Given the description of an element on the screen output the (x, y) to click on. 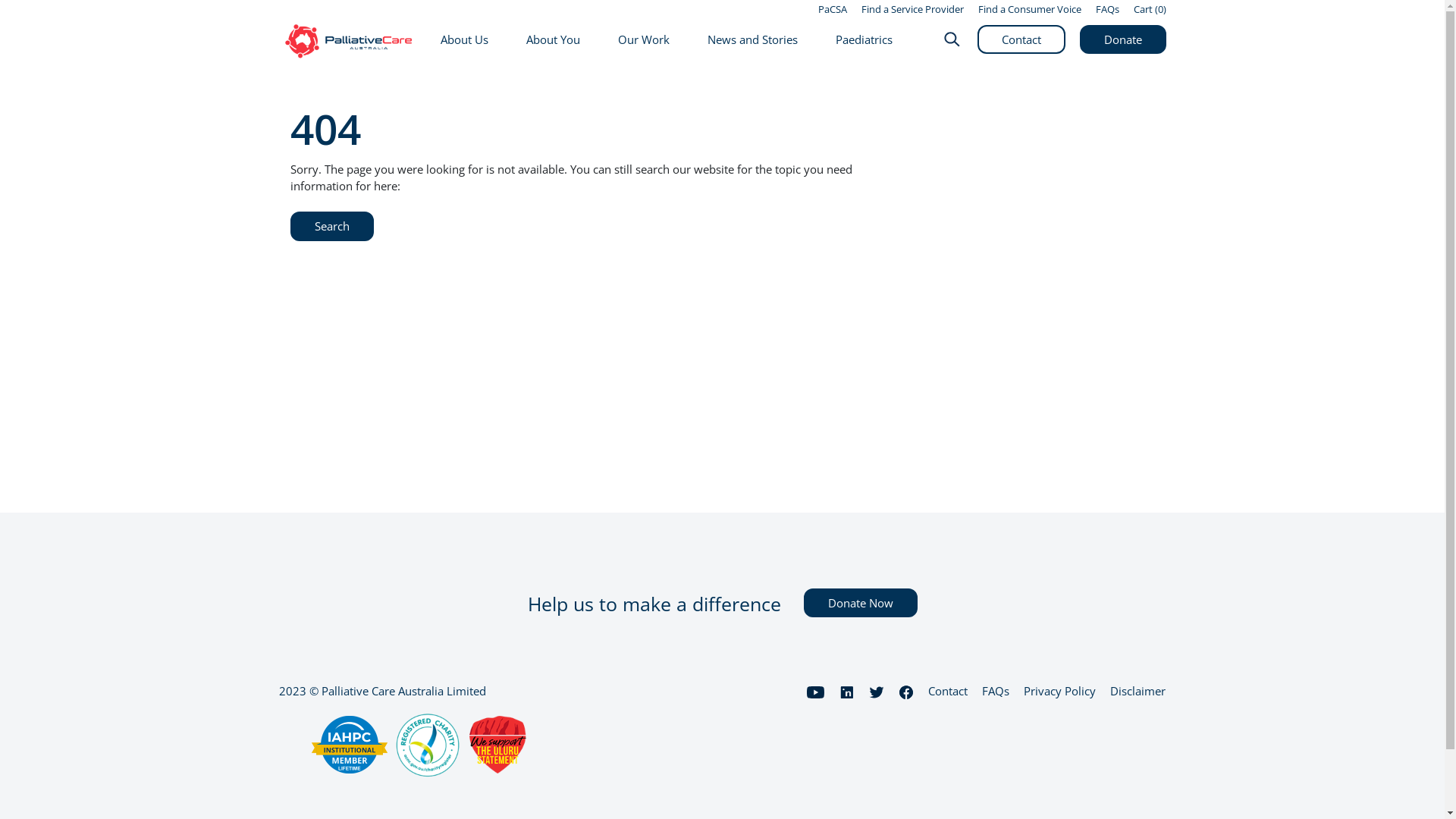
Cart (0) Element type: text (1148, 9)
PaCSA Element type: text (831, 9)
Find a Service Provider Element type: text (912, 9)
About You Element type: text (552, 40)
Find a Consumer Voice Element type: text (1029, 9)
News and Stories Element type: text (752, 40)
Disclaimer Element type: text (1137, 690)
Our Work Element type: text (643, 40)
Contact Element type: text (1020, 39)
Paediatrics Element type: text (864, 40)
Search Element type: text (331, 226)
Donate Element type: text (1122, 39)
FAQs Element type: text (995, 690)
FAQs Element type: text (1106, 9)
Donate Now Element type: text (860, 603)
Privacy Policy Element type: text (1059, 690)
About Us Element type: text (464, 40)
Contact Element type: text (947, 690)
